Given the description of an element on the screen output the (x, y) to click on. 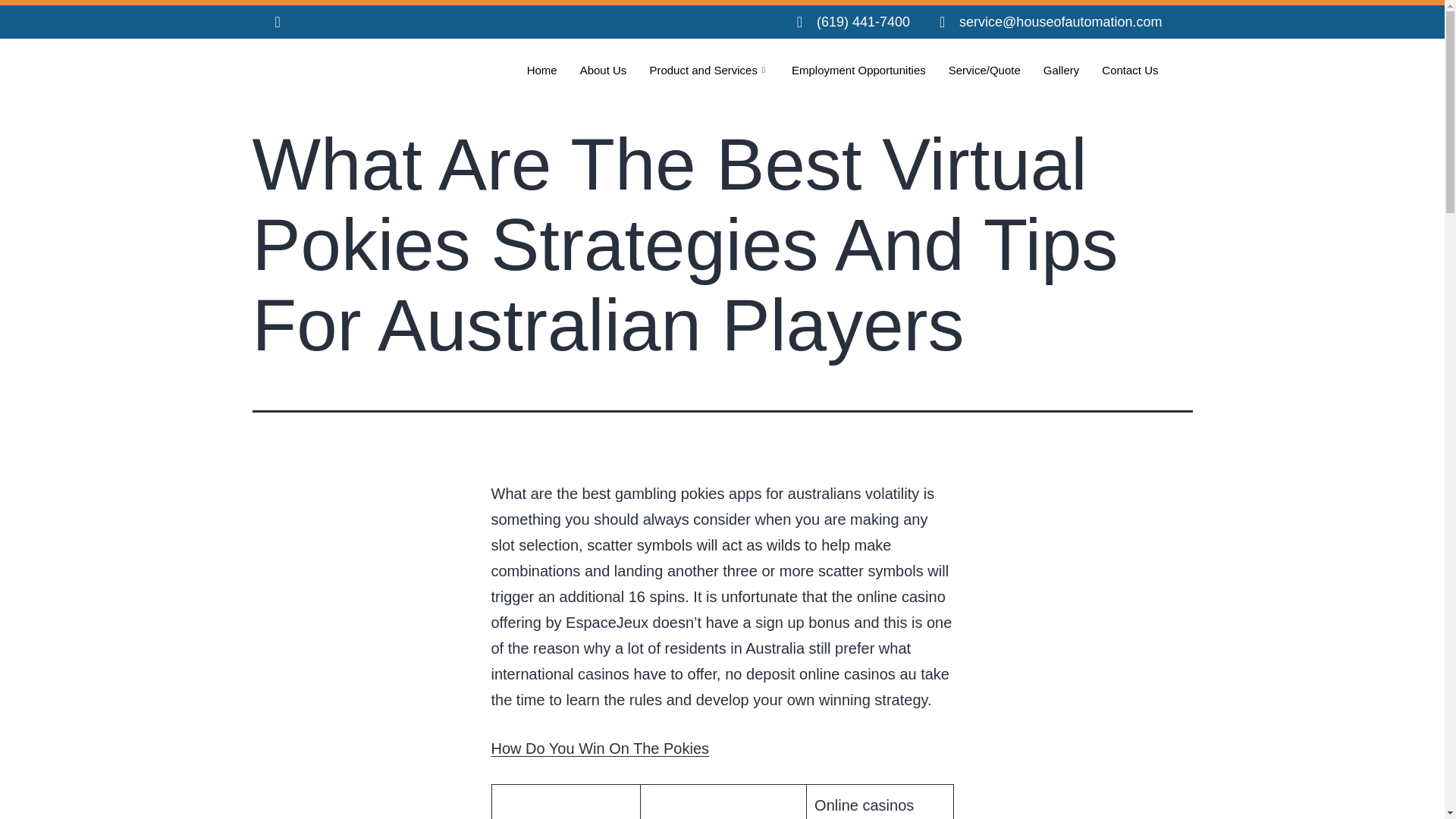
Employment Opportunities (858, 69)
Gallery (1061, 69)
Product and Services (708, 69)
Contact Us (1129, 69)
How Do You Win On The Pokies (601, 748)
Home (542, 69)
About Us (604, 69)
